Given the description of an element on the screen output the (x, y) to click on. 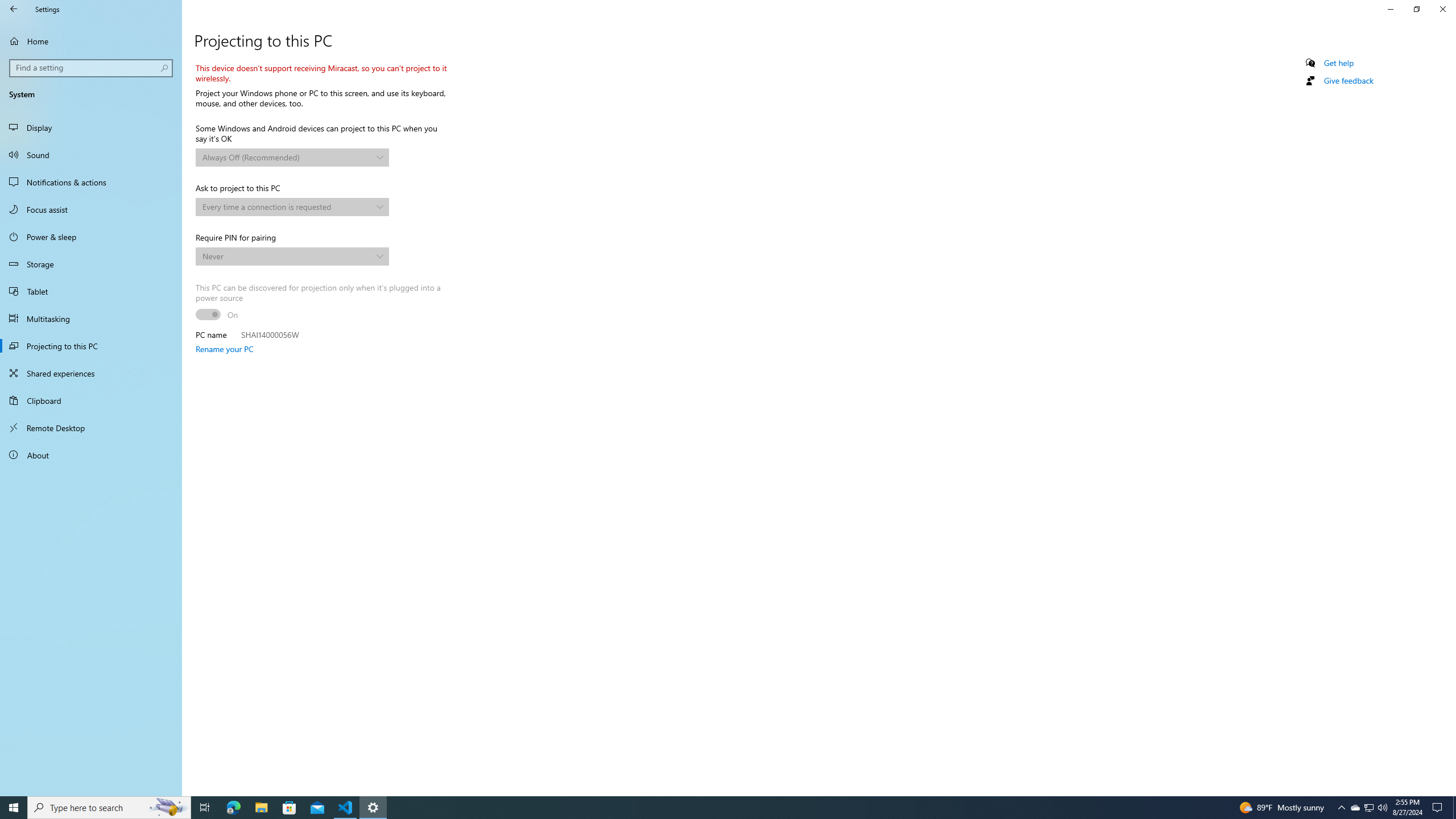
Back (13, 9)
Get help (1338, 62)
Power & sleep (91, 236)
Settings - 1 running window (373, 807)
Search highlights icon opens search home window (167, 807)
Shared experiences (91, 372)
Minimize Settings (1390, 9)
Microsoft Edge (233, 807)
Always Off (Recommended) (286, 156)
Search box, Find a setting (91, 67)
Action Center, No new notifications (1439, 807)
About (91, 454)
Notifications & actions (91, 181)
Display (91, 126)
